Given the description of an element on the screen output the (x, y) to click on. 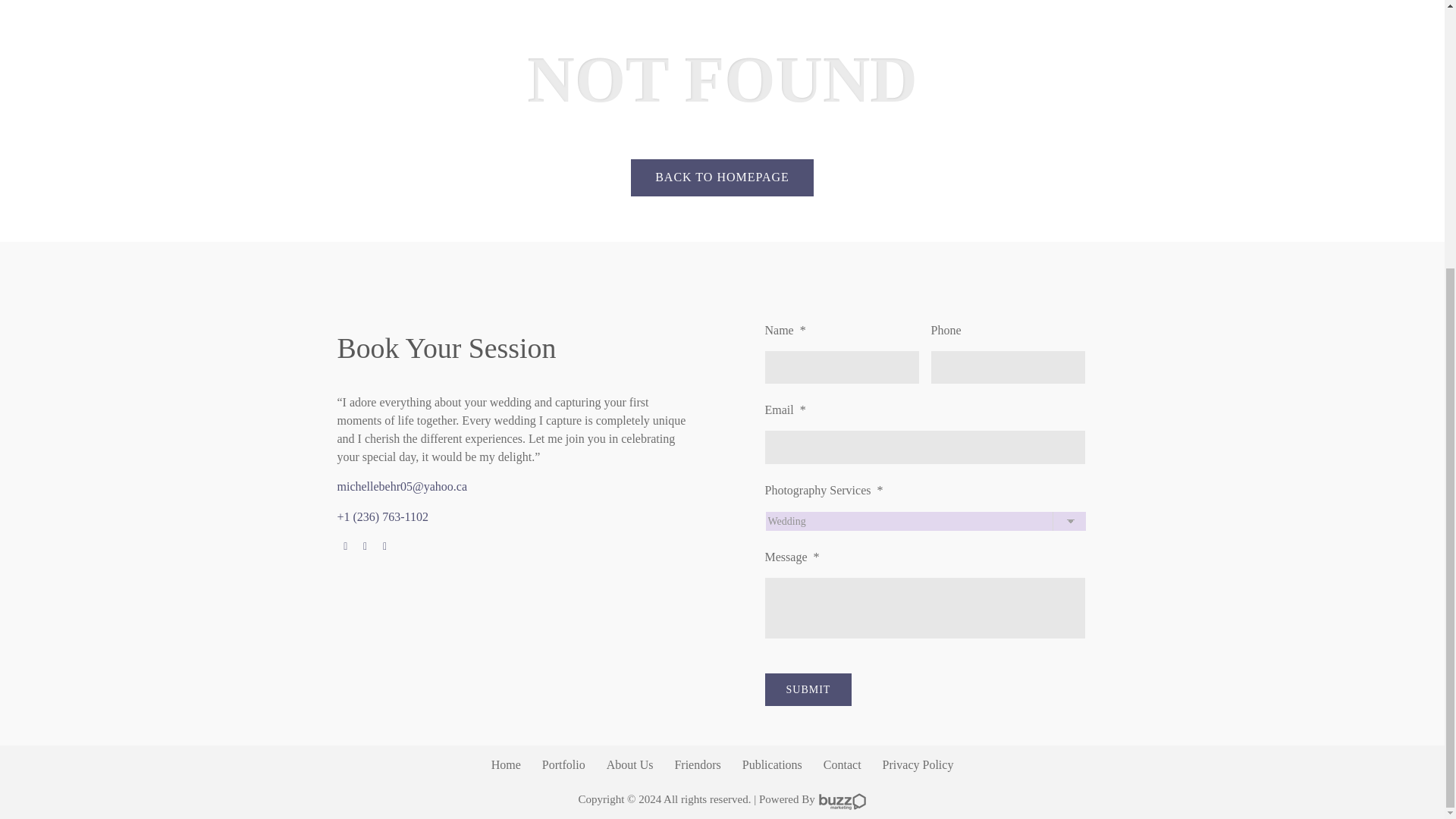
Contact (842, 764)
Portfolio (563, 764)
Home (506, 764)
Submit (807, 689)
About Us (630, 764)
Privacy Policy (917, 764)
Publications (772, 764)
BACK TO HOMEPAGE (721, 177)
Submit (807, 689)
Friendors (697, 764)
